Given the description of an element on the screen output the (x, y) to click on. 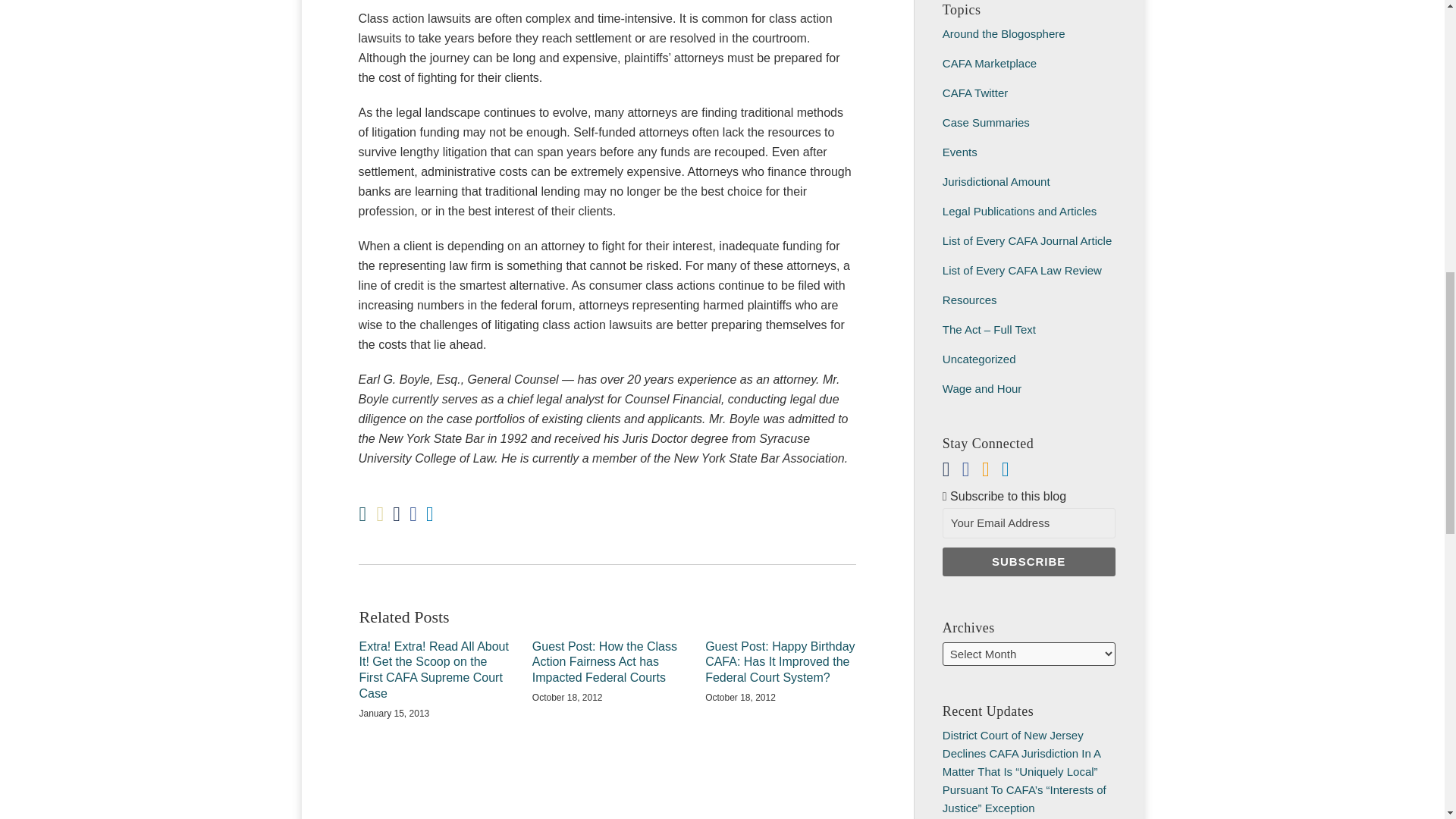
List of Every CAFA Journal Article (1027, 240)
CAFA Twitter (974, 92)
Case Summaries (985, 122)
Events (959, 151)
Legal Publications and Articles (1019, 210)
List of Every CAFA Law Review (1022, 269)
Subscribe (1028, 561)
Around the Blogosphere (1003, 33)
Jurisdictional Amount (995, 181)
CAFA Marketplace (989, 62)
